Given the description of an element on the screen output the (x, y) to click on. 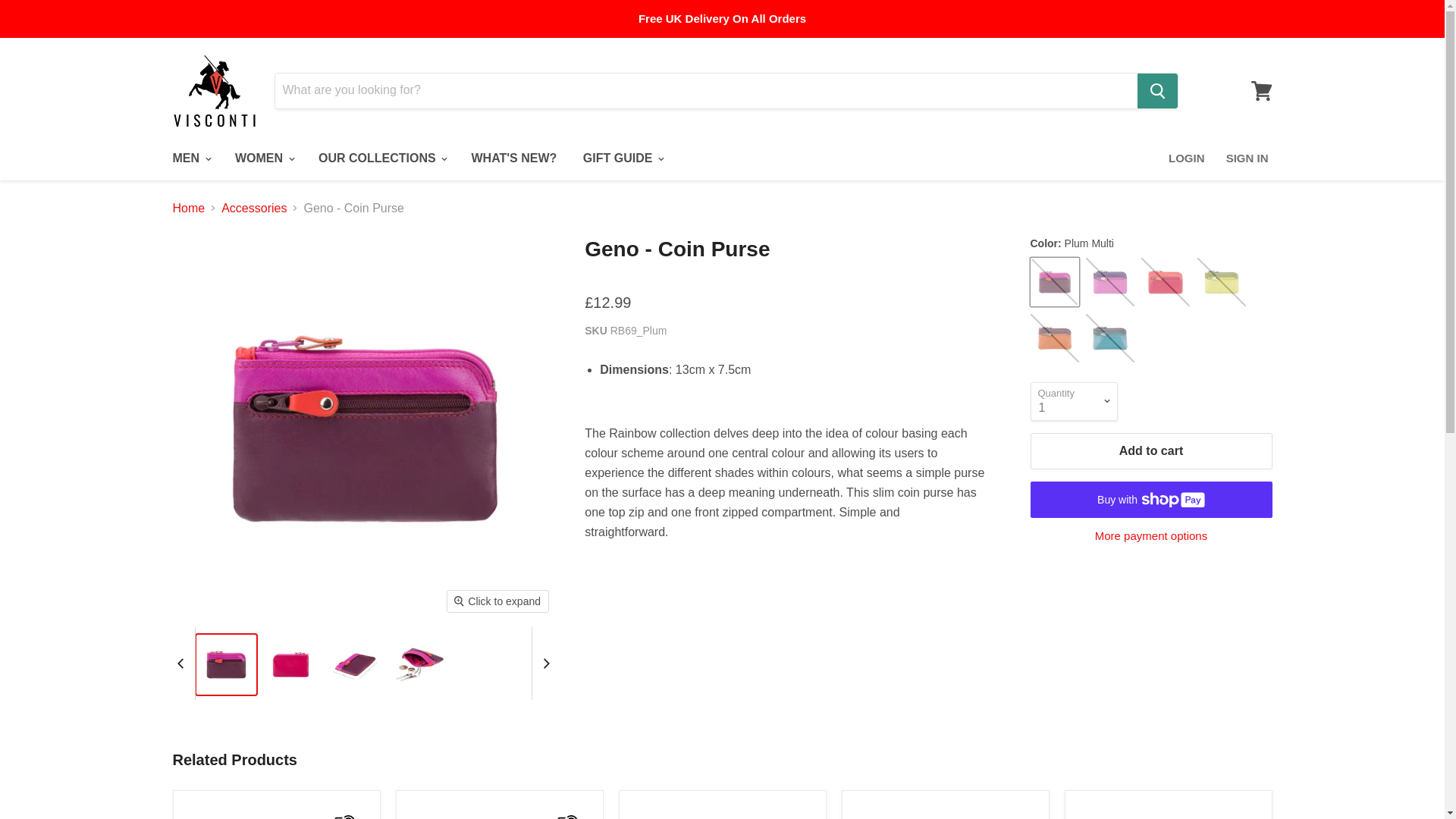
MEN (189, 158)
View cart (1261, 89)
